Given the description of an element on the screen output the (x, y) to click on. 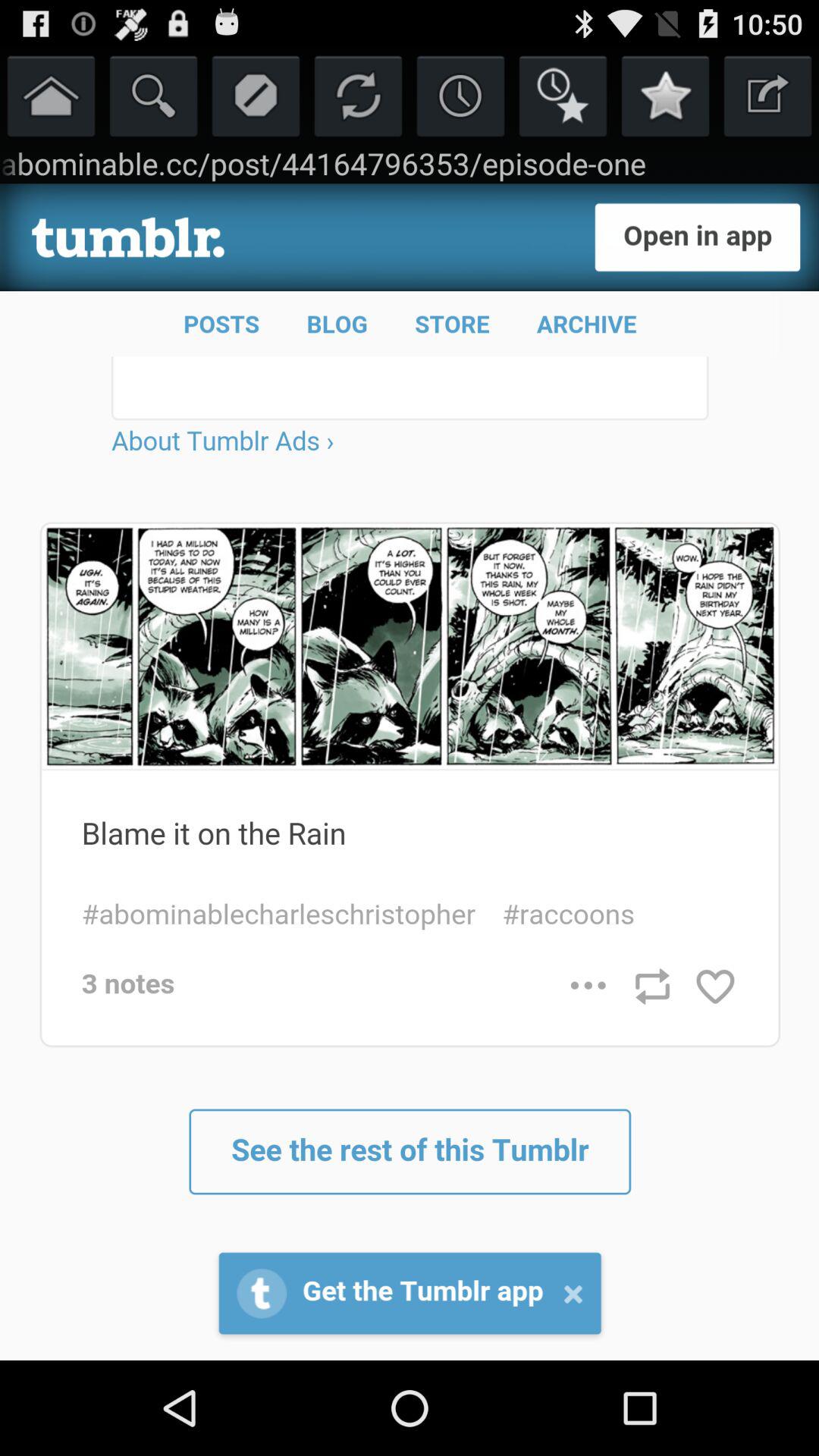
bookmark this page (665, 95)
